Given the description of an element on the screen output the (x, y) to click on. 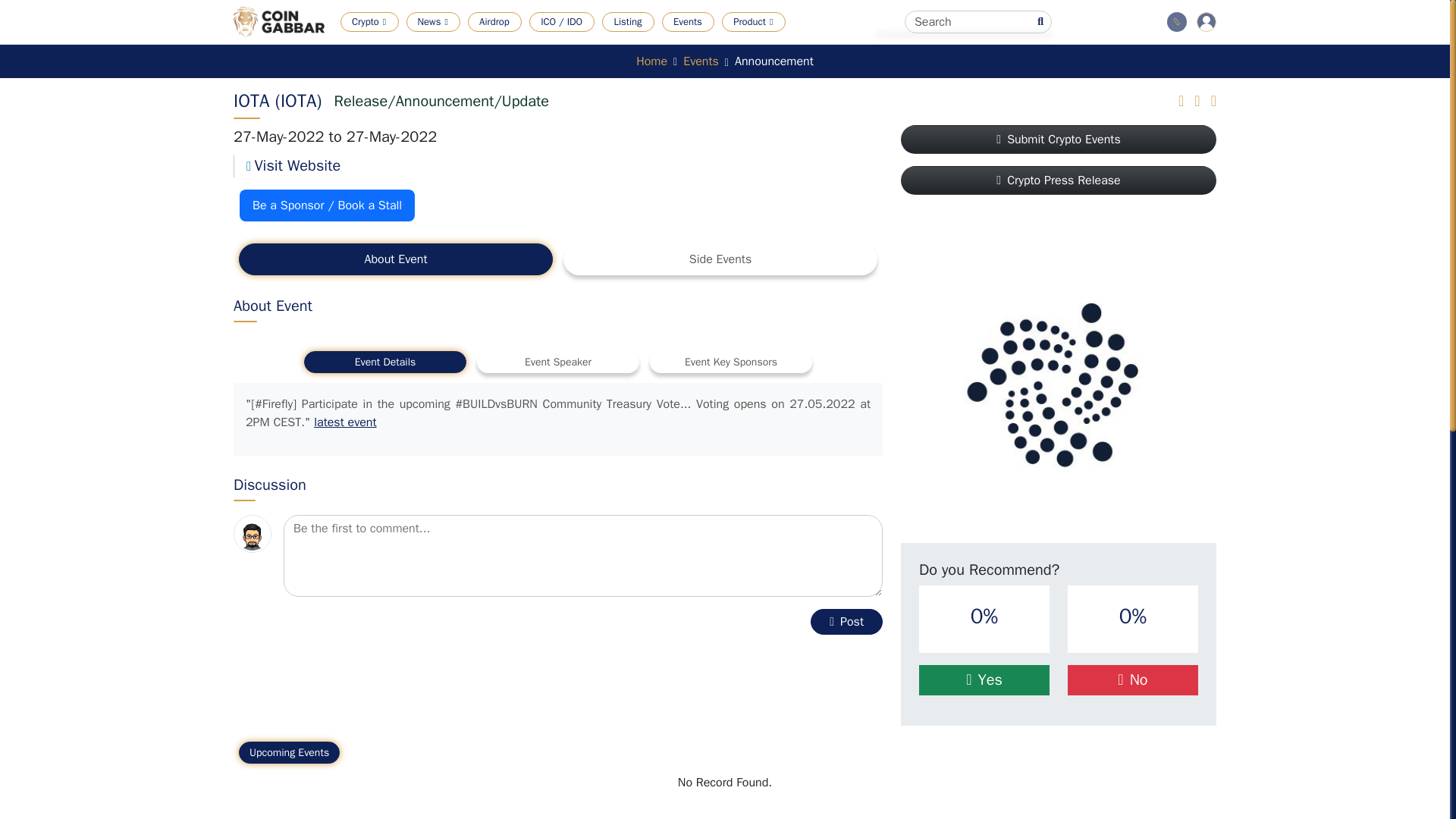
All News (462, 43)
Top Gainers (519, 43)
All Blogs (579, 43)
Bitcoin (686, 43)
Cryptocurrency (405, 43)
